Given the description of an element on the screen output the (x, y) to click on. 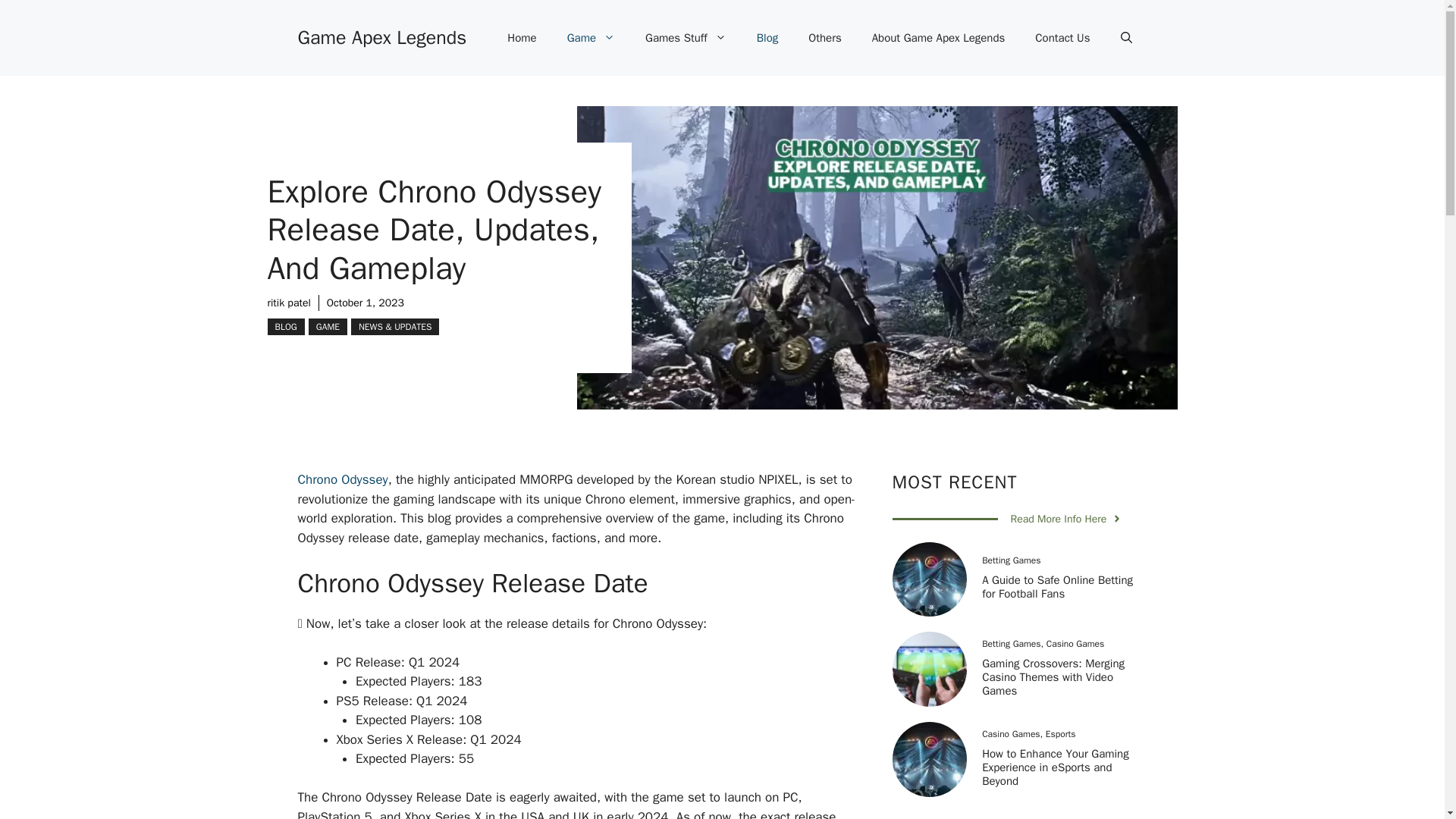
Game (590, 37)
Others (824, 37)
Home (521, 37)
About Game Apex Legends (938, 37)
Chrono Odyssey (342, 479)
Game Apex Legends (381, 37)
Contact Us (1062, 37)
Blog (767, 37)
BLOG (285, 326)
ritik patel (288, 302)
